Given the description of an element on the screen output the (x, y) to click on. 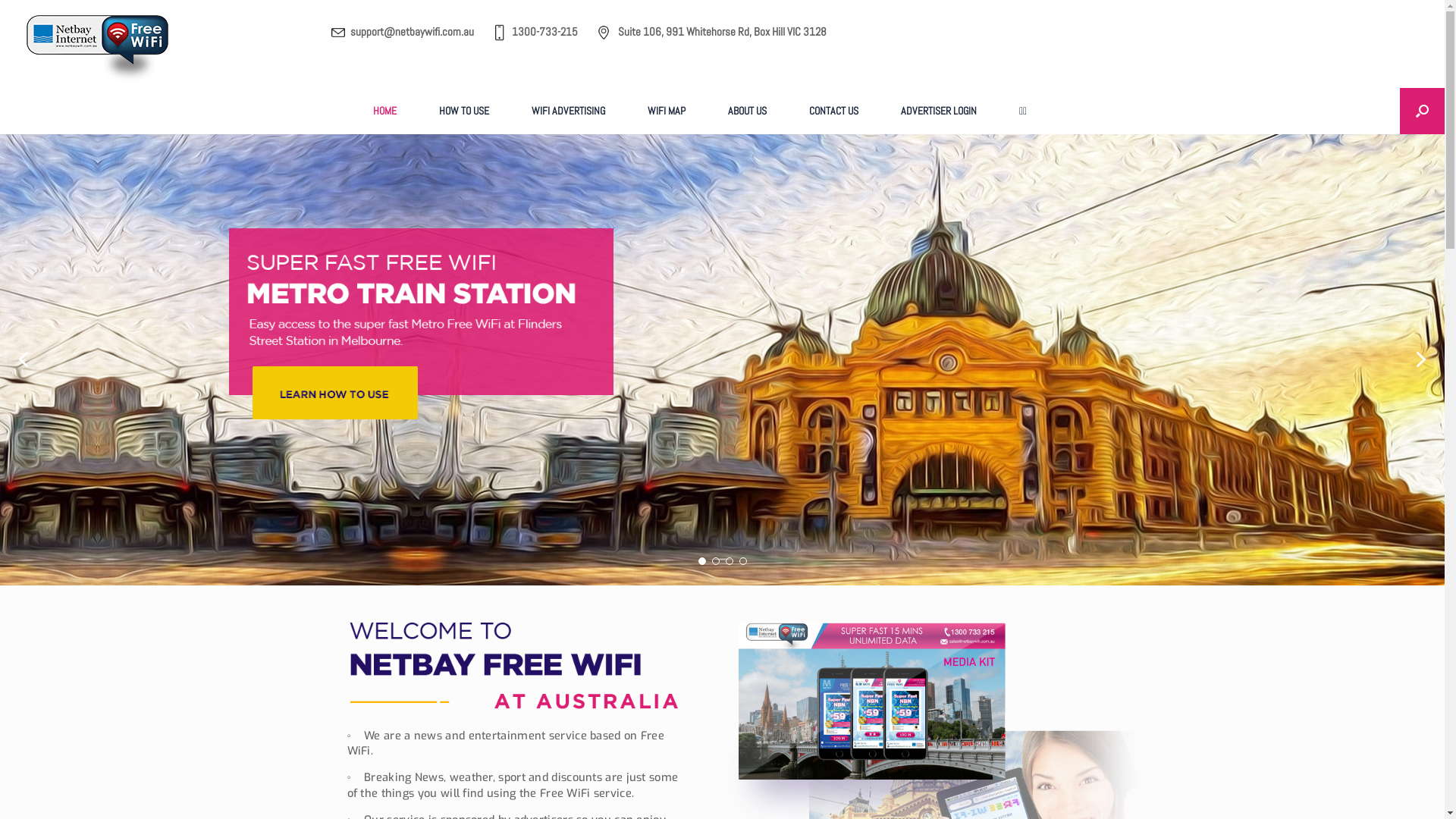
ADVERTISER LOGIN Element type: text (938, 110)
ABOUT US Element type: text (746, 110)
welcomename Element type: hover (513, 665)
WIFI MAP Element type: text (666, 110)
HOME Element type: text (384, 110)
WIFI ADVERTISING Element type: text (568, 110)
CONTACT US Element type: text (833, 110)
support@netbaywifi.com.au Element type: text (411, 31)
HOW TO USE Element type: text (463, 110)
Skip to content Element type: text (0, 0)
1300-733-215 Element type: text (544, 31)
